Given the description of an element on the screen output the (x, y) to click on. 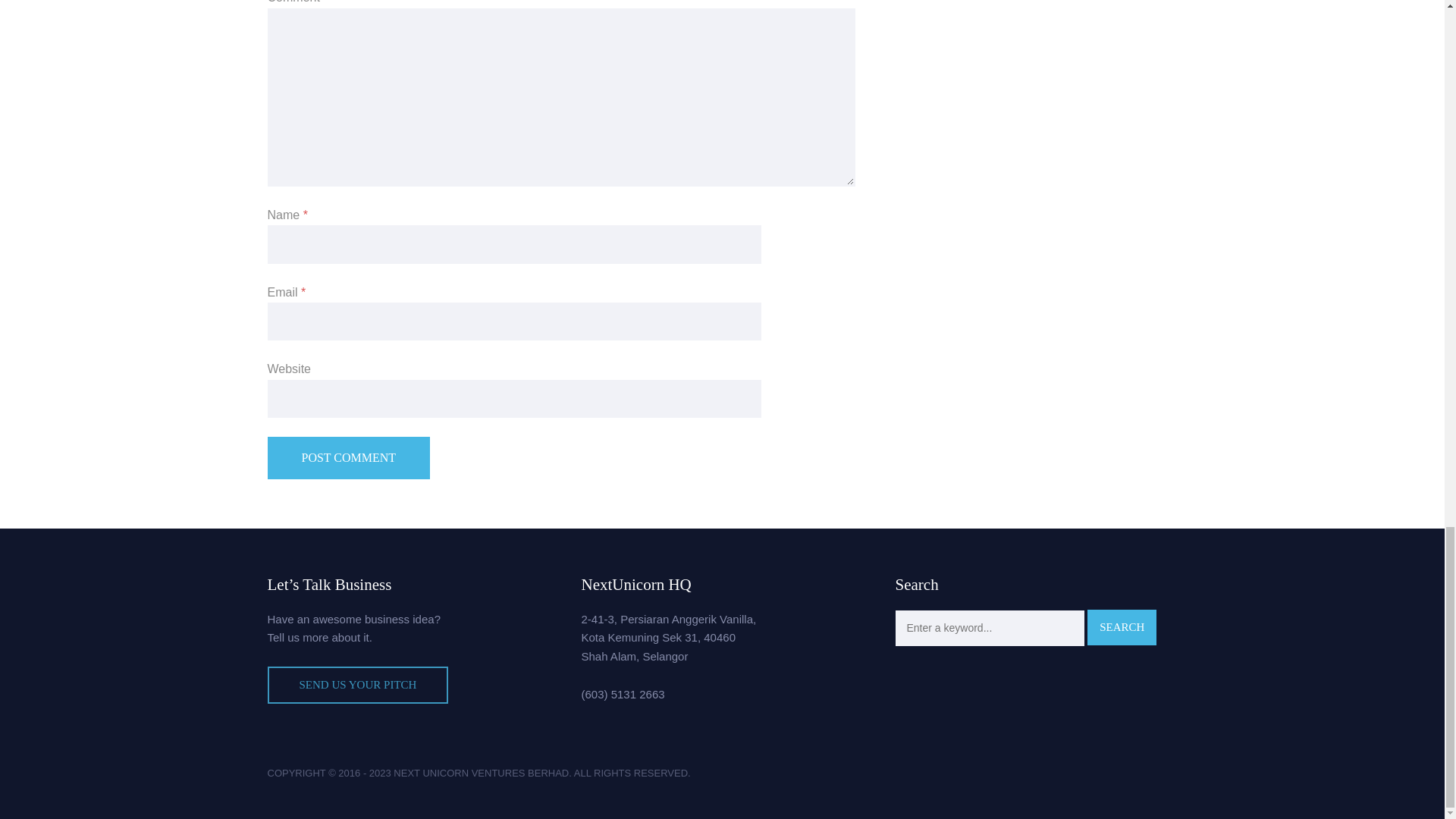
Search (1121, 627)
Post Comment (347, 457)
Post Comment (347, 457)
Search (1121, 627)
